Given the description of an element on the screen output the (x, y) to click on. 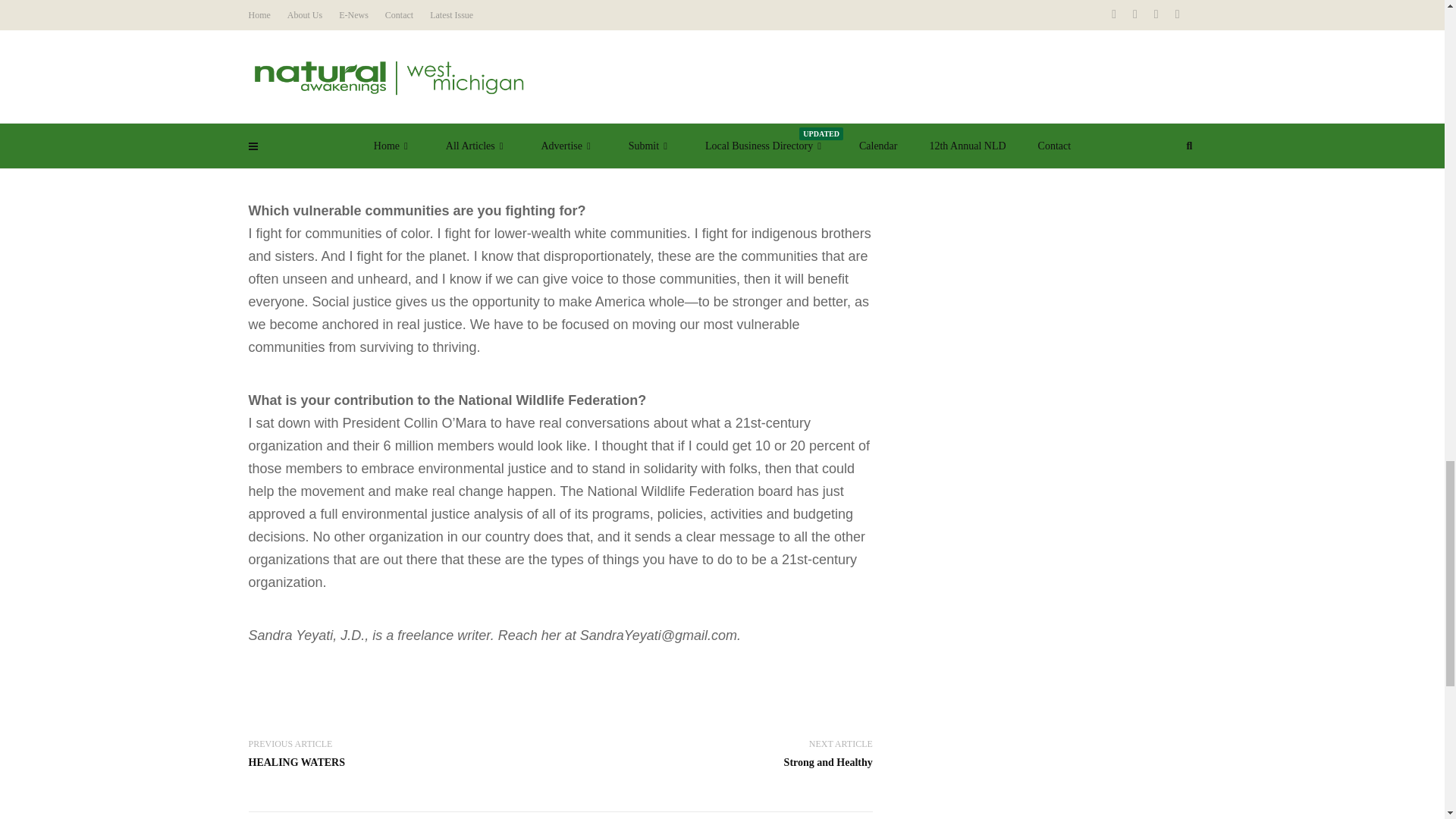
Sign up (925, 12)
